Given the description of an element on the screen output the (x, y) to click on. 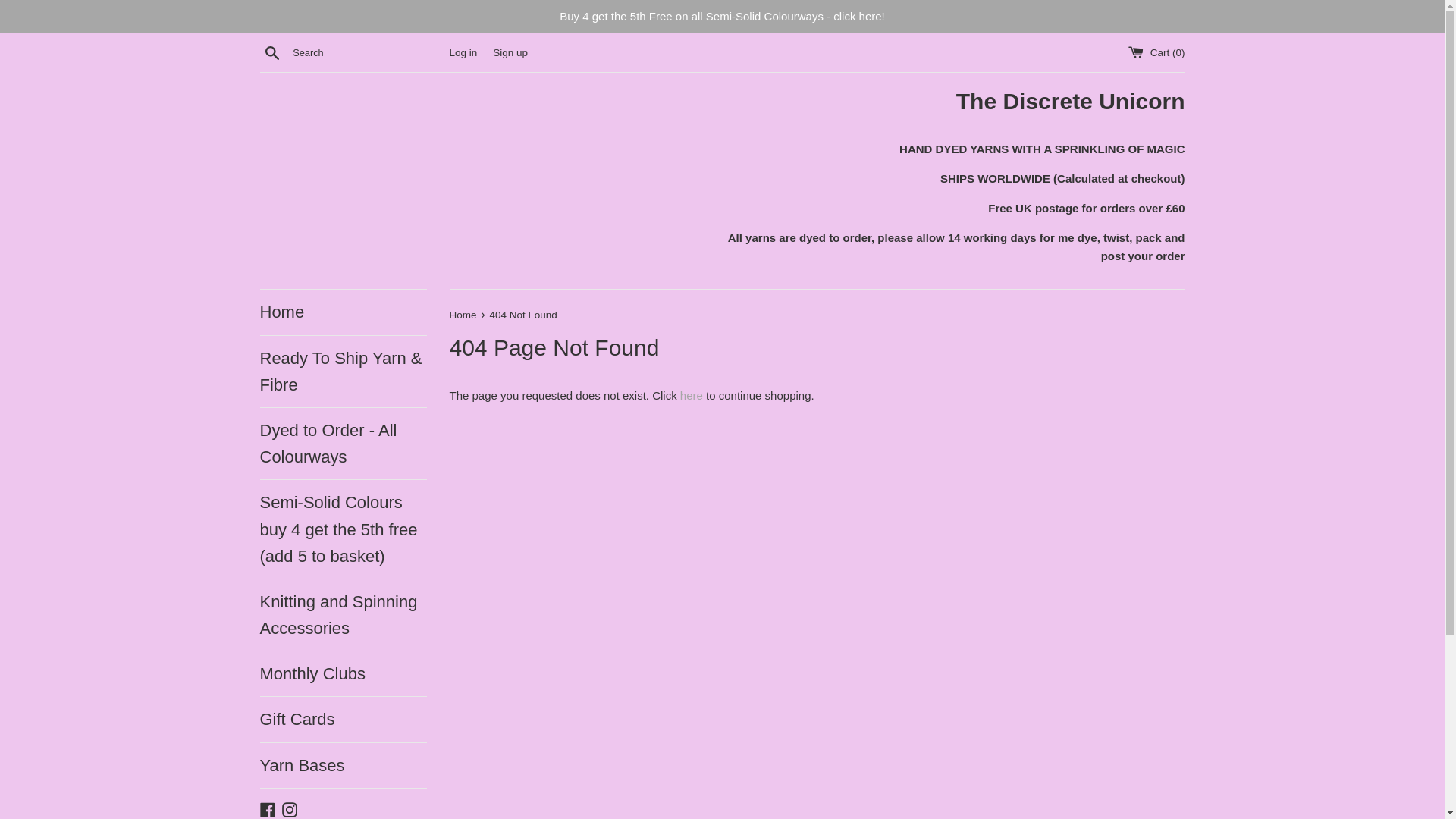
Gift Cards (342, 719)
Dyed to Order - All Colourways (342, 443)
TheDiscreteUnicorn on Instagram (289, 808)
Home (342, 311)
TheDiscreteUnicorn on Facebook (267, 808)
Instagram (289, 808)
Facebook (267, 808)
Monthly Clubs (342, 673)
Back to the frontpage (463, 315)
Sign up (510, 52)
here (691, 395)
Home (463, 315)
Search (271, 52)
Log in (462, 52)
Yarn Bases (342, 764)
